Given the description of an element on the screen output the (x, y) to click on. 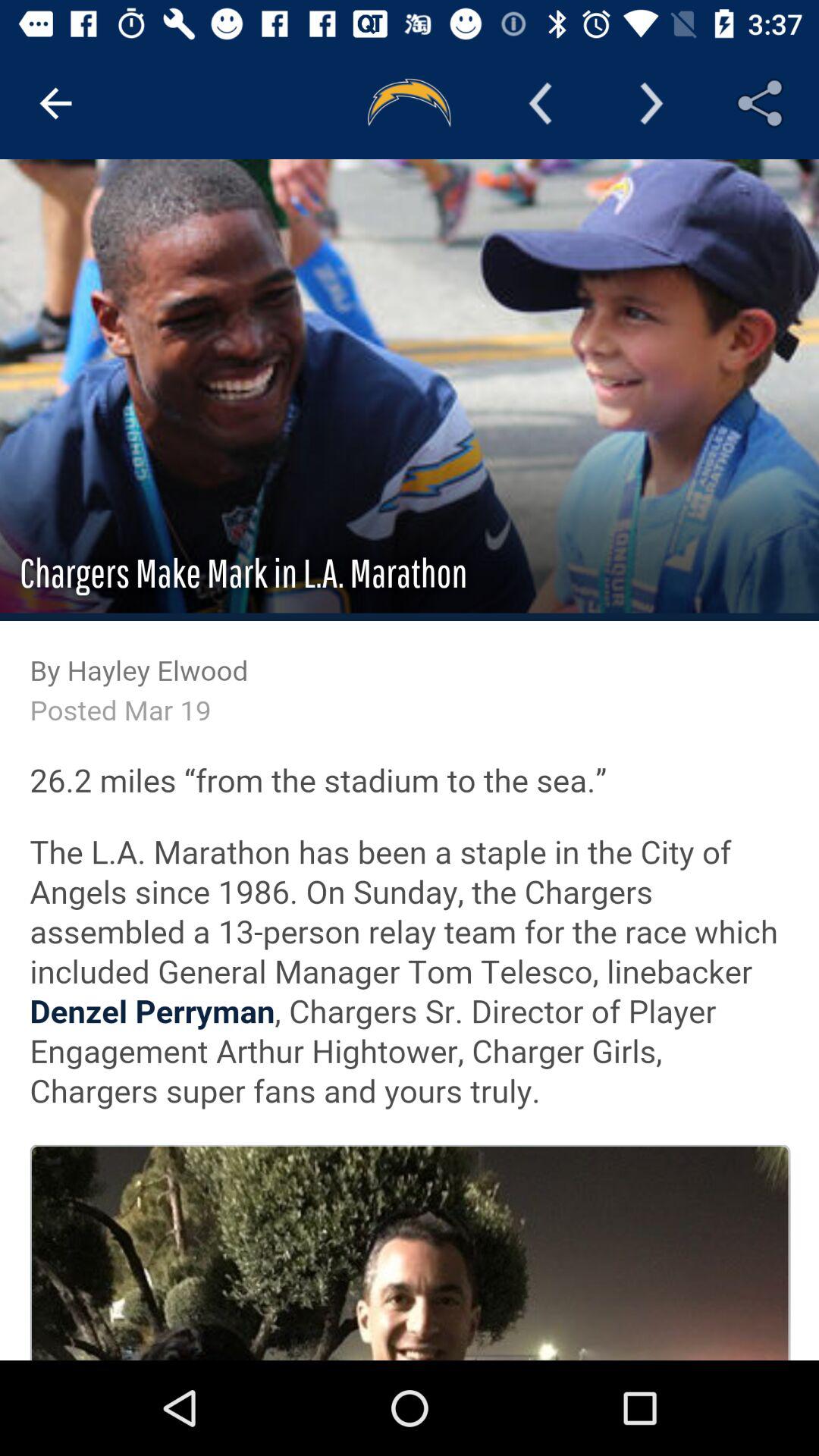
hayley elwood pages (409, 759)
